Given the description of an element on the screen output the (x, y) to click on. 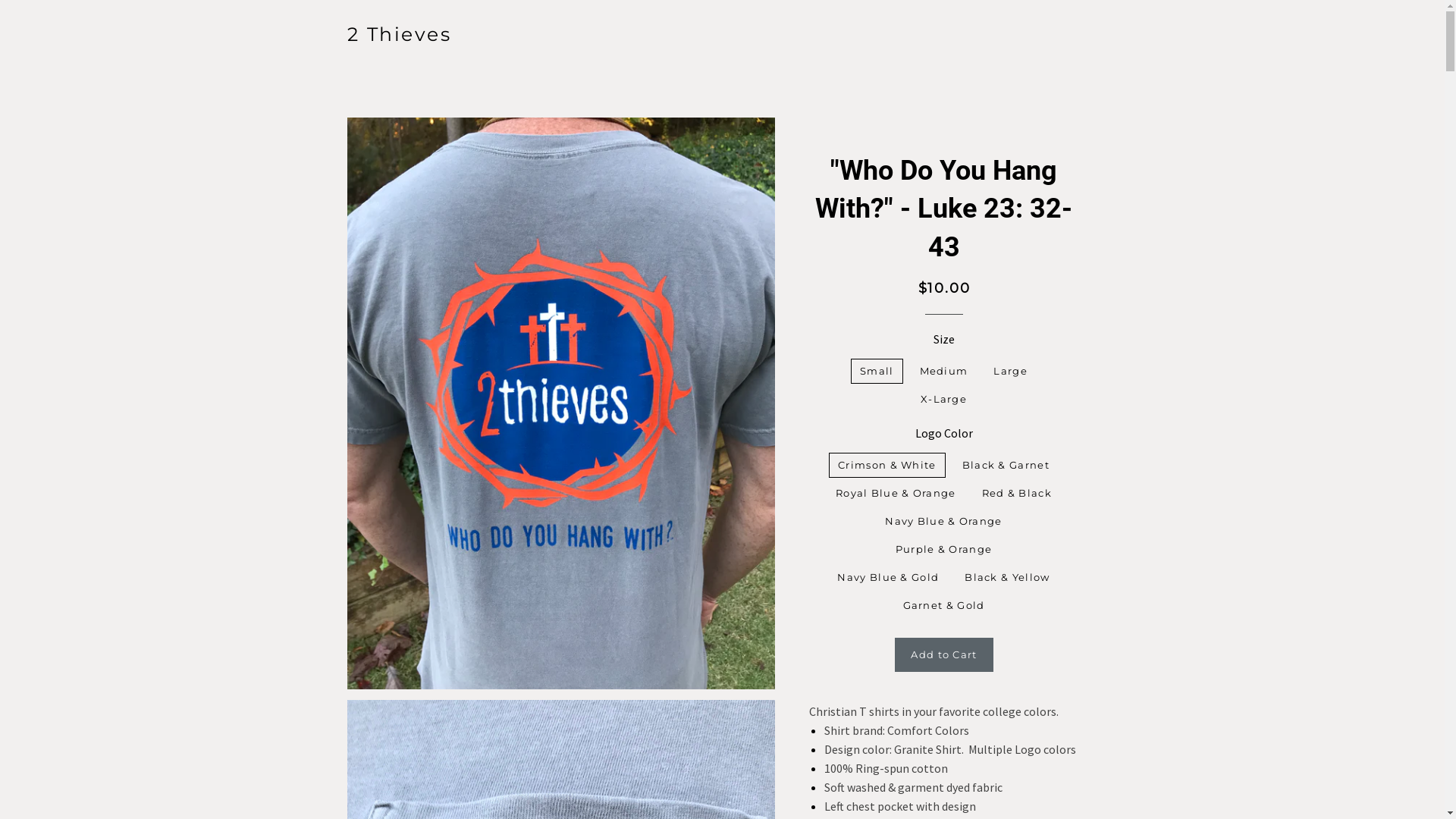
Add to Cart Element type: text (943, 654)
2 Thieves Element type: text (399, 34)
